Given the description of an element on the screen output the (x, y) to click on. 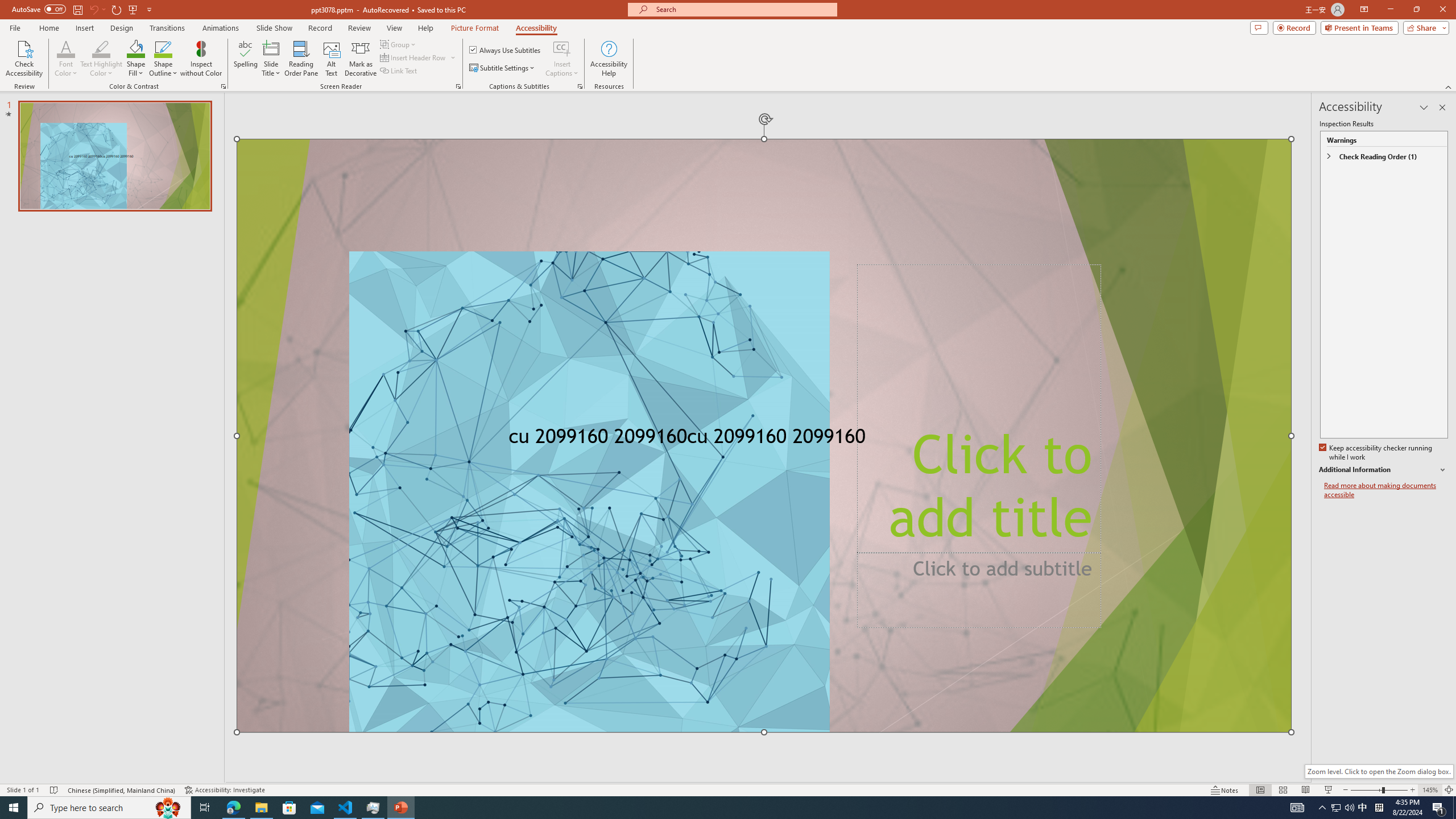
Inspect without Color (201, 58)
Reading Order Pane (301, 58)
Accessibility Help (608, 58)
Captions & Subtitles (580, 85)
